Given the description of an element on the screen output the (x, y) to click on. 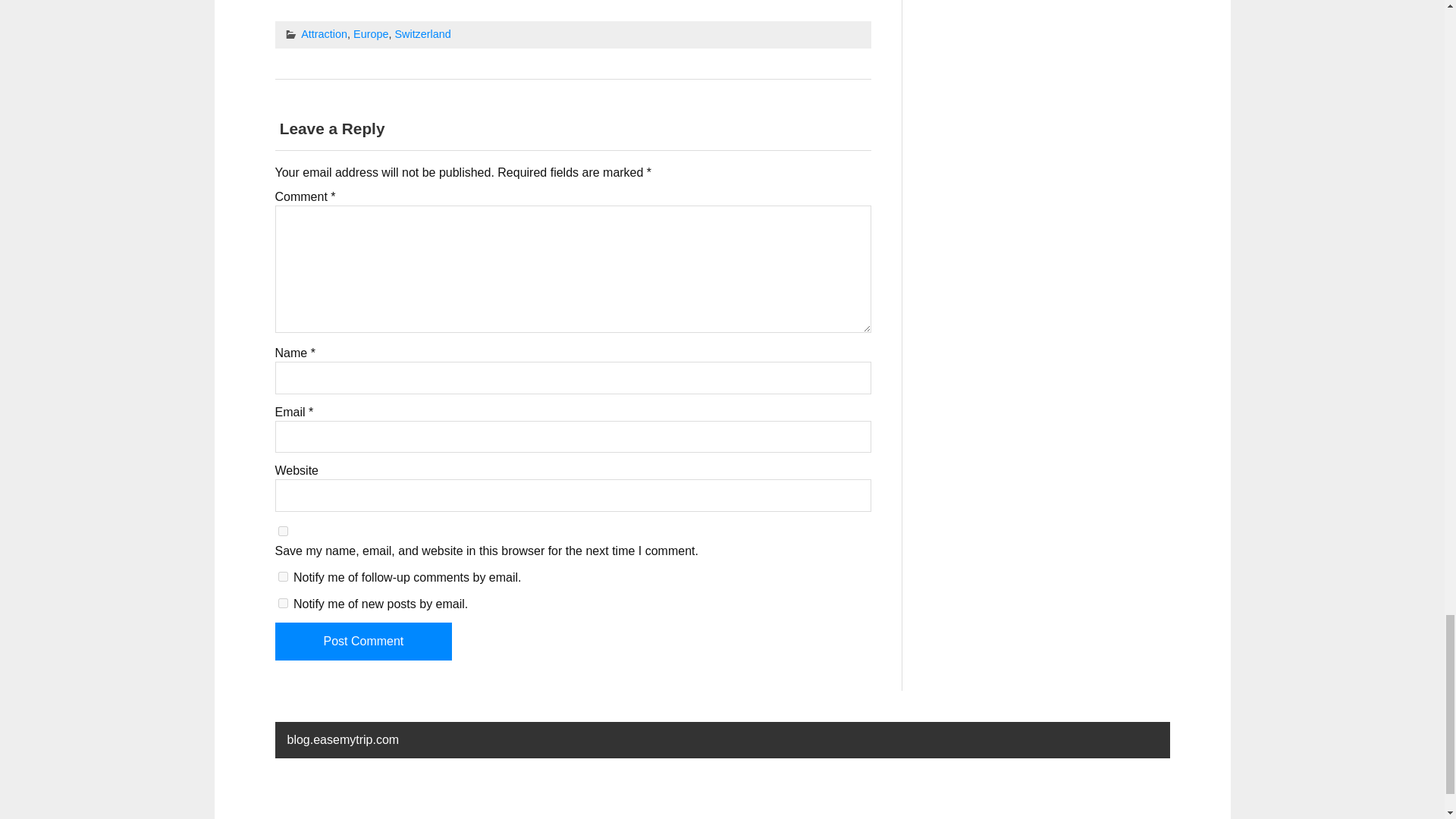
yes (282, 531)
Europe (370, 33)
subscribe (282, 576)
Attraction (324, 33)
subscribe (282, 603)
Post Comment (363, 641)
